Given the description of an element on the screen output the (x, y) to click on. 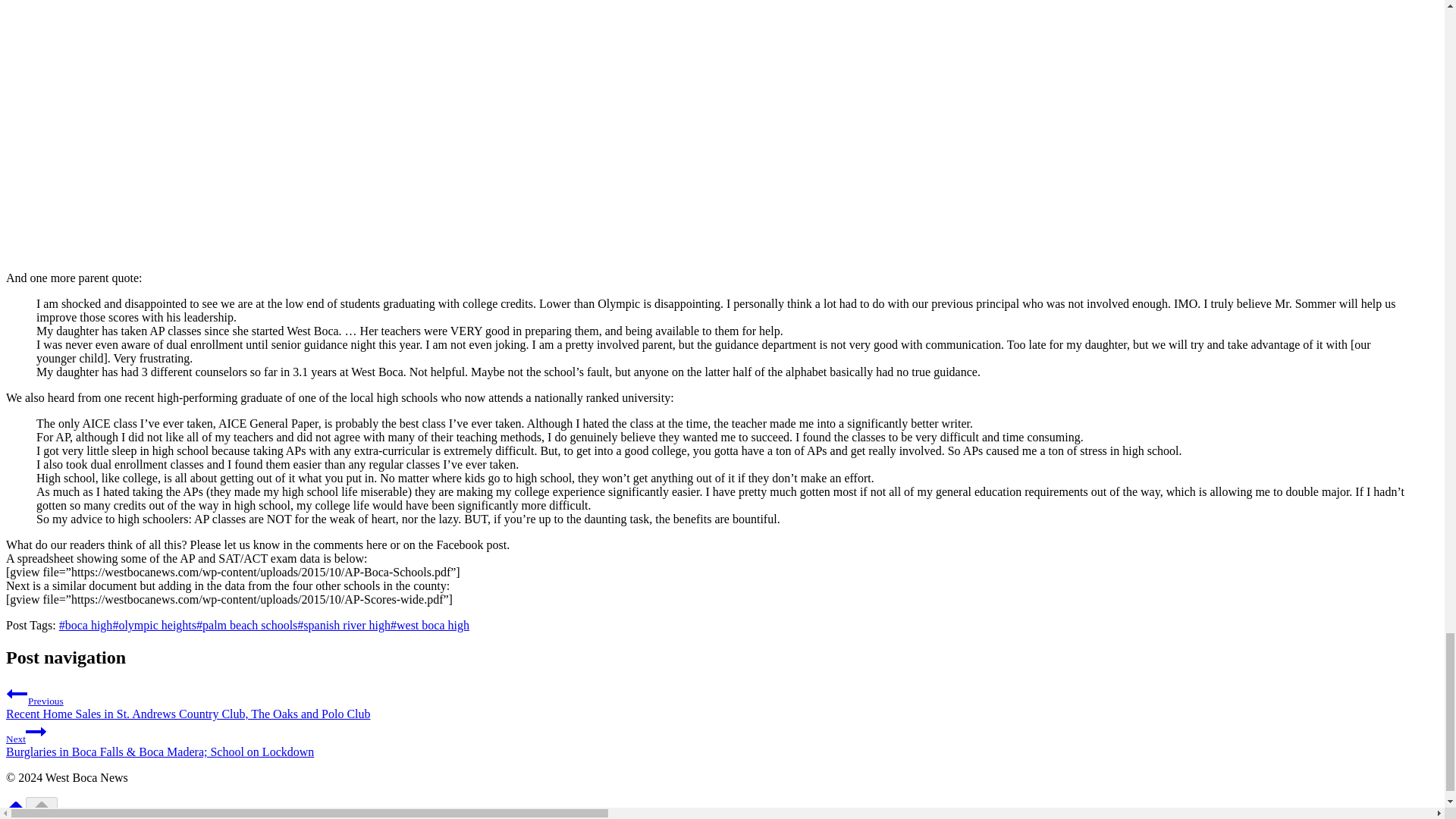
spanish river high (343, 625)
Previous (16, 693)
west boca high (429, 625)
olympic heights (154, 625)
boca high (86, 625)
Continue (36, 731)
palm beach schools (246, 625)
